Given the description of an element on the screen output the (x, y) to click on. 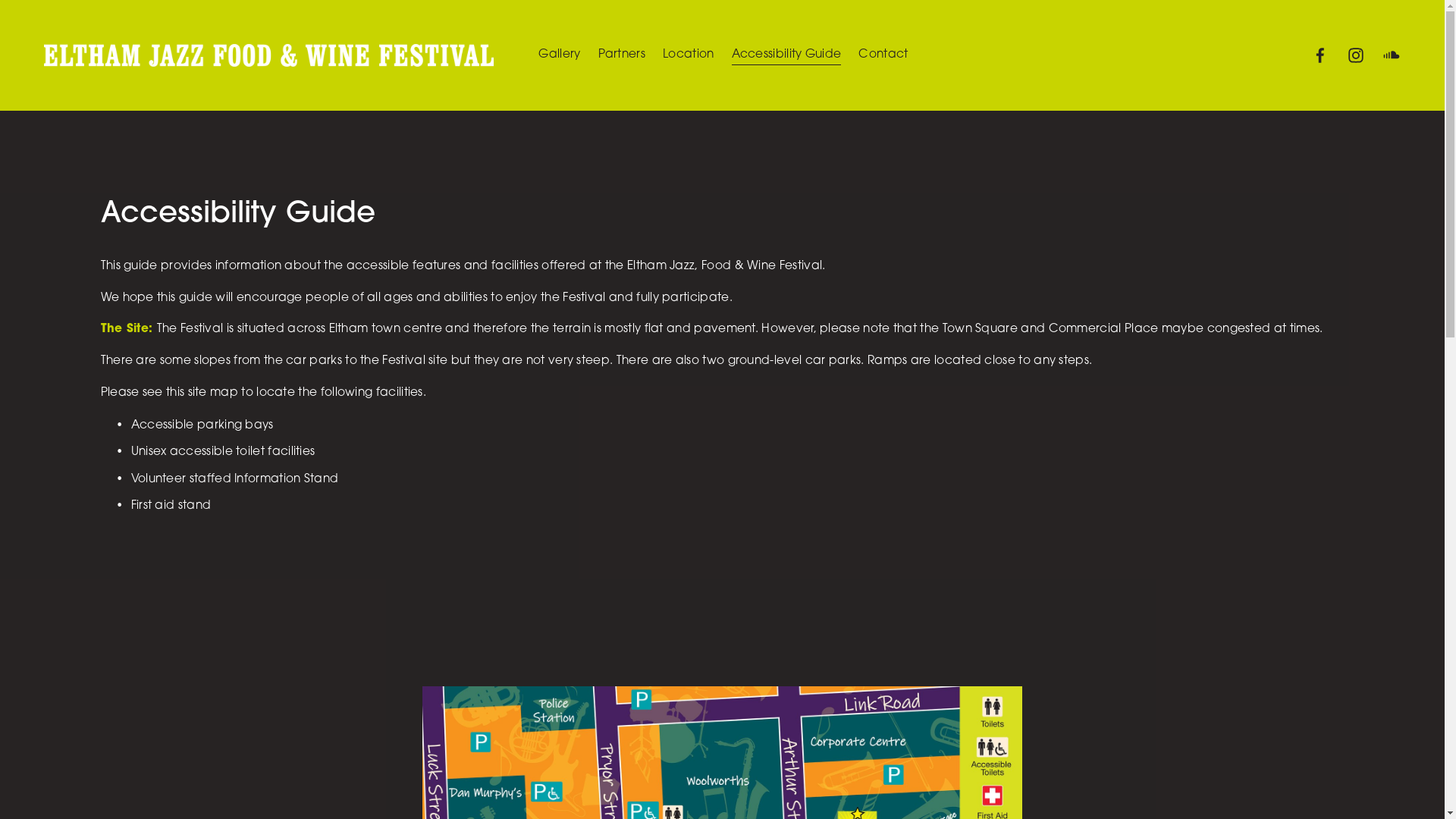
Accessibility Guide Element type: text (786, 55)
Partners Element type: text (621, 55)
Location Element type: text (687, 55)
Contact Element type: text (882, 55)
Gallery Element type: text (559, 55)
